Given the description of an element on the screen output the (x, y) to click on. 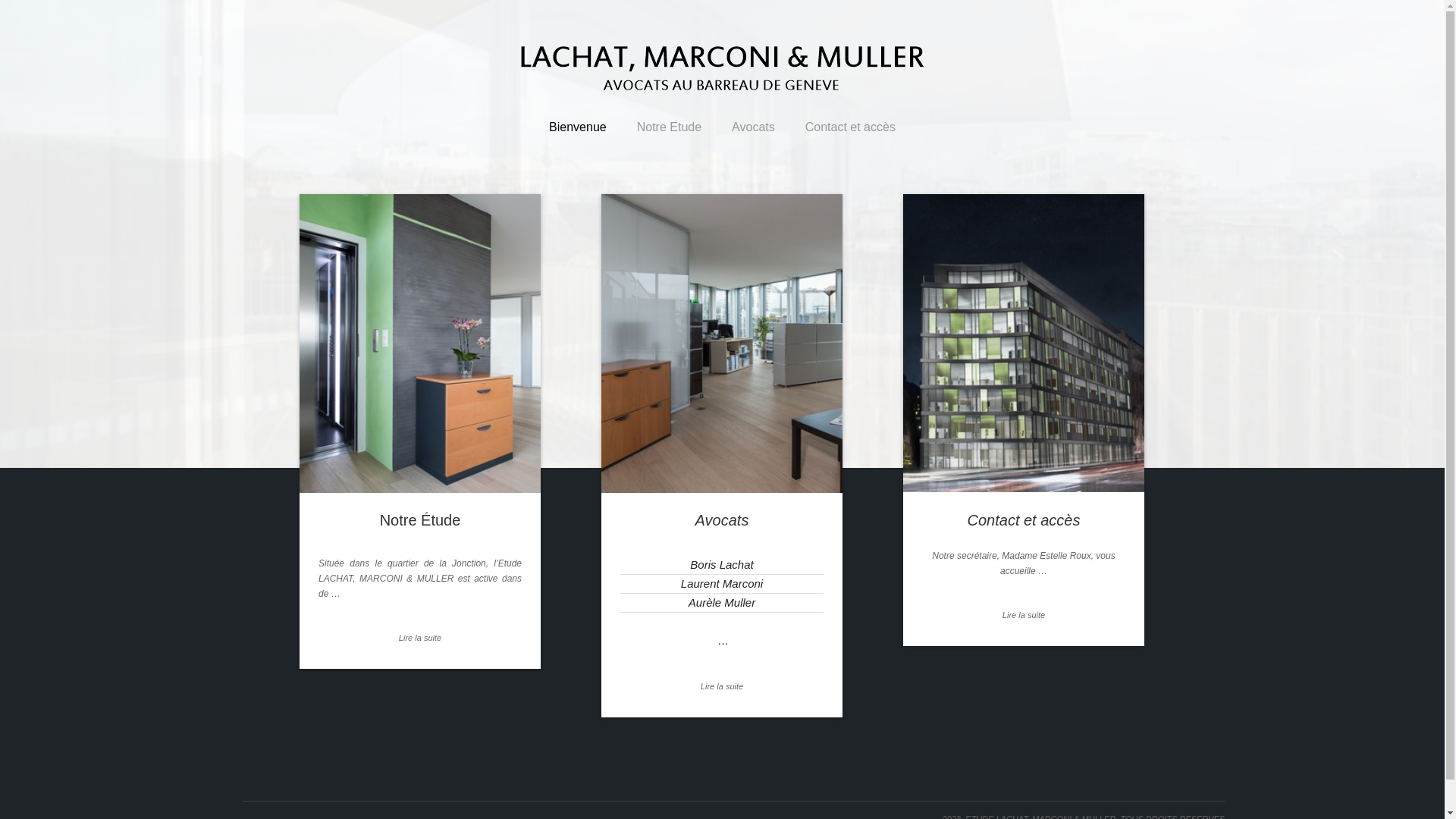
Avocats Element type: text (753, 134)
Lire la suite Element type: text (721, 685)
Bienvenue Element type: text (577, 134)
Lire la suite Element type: text (1023, 614)
Avocats Element type: hover (721, 343)
Avocats Element type: text (722, 519)
Notre Etude Element type: text (669, 134)
Lire la suite Element type: text (419, 637)
